Given the description of an element on the screen output the (x, y) to click on. 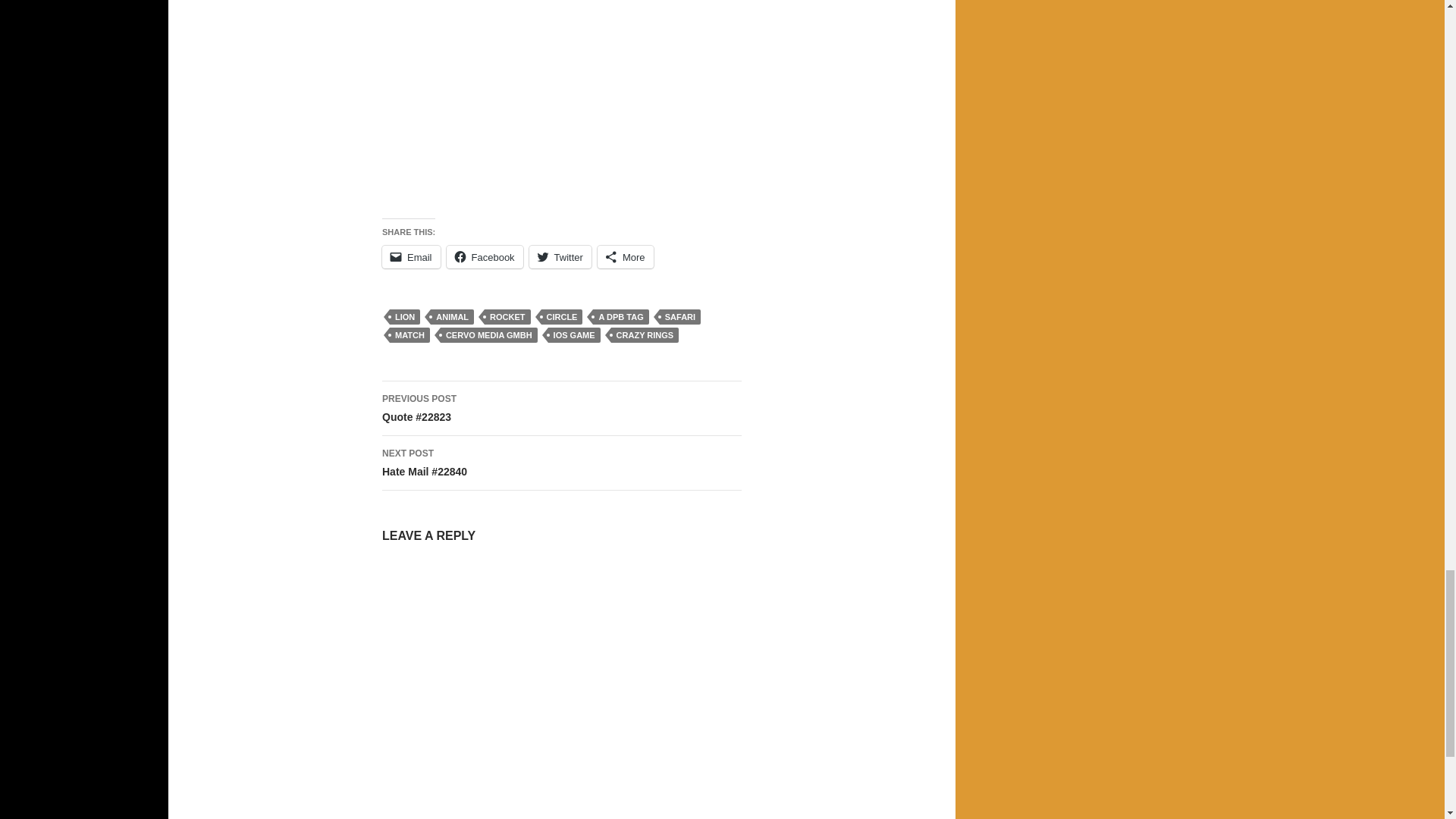
Click to email a link to a friend (411, 256)
Click to share on Twitter (560, 256)
More (624, 256)
ROCKET (506, 316)
Email (411, 256)
Click to share on Facebook (484, 256)
CIRCLE (562, 316)
ANIMAL (452, 316)
Comment Form (561, 691)
LION (405, 316)
